Given the description of an element on the screen output the (x, y) to click on. 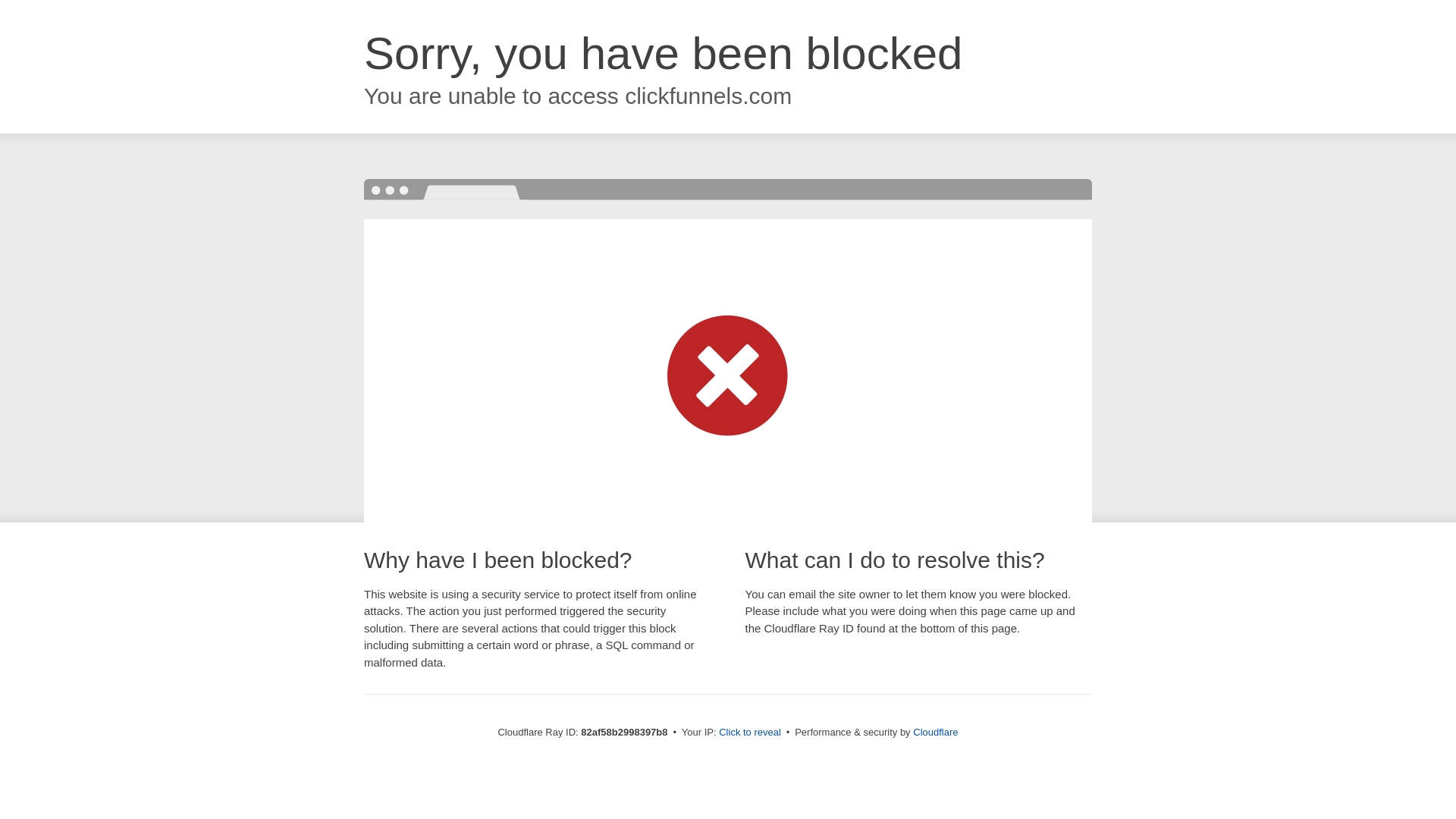
Click to reveal Element type: text (749, 732)
Cloudflare Element type: text (935, 731)
